Given the description of an element on the screen output the (x, y) to click on. 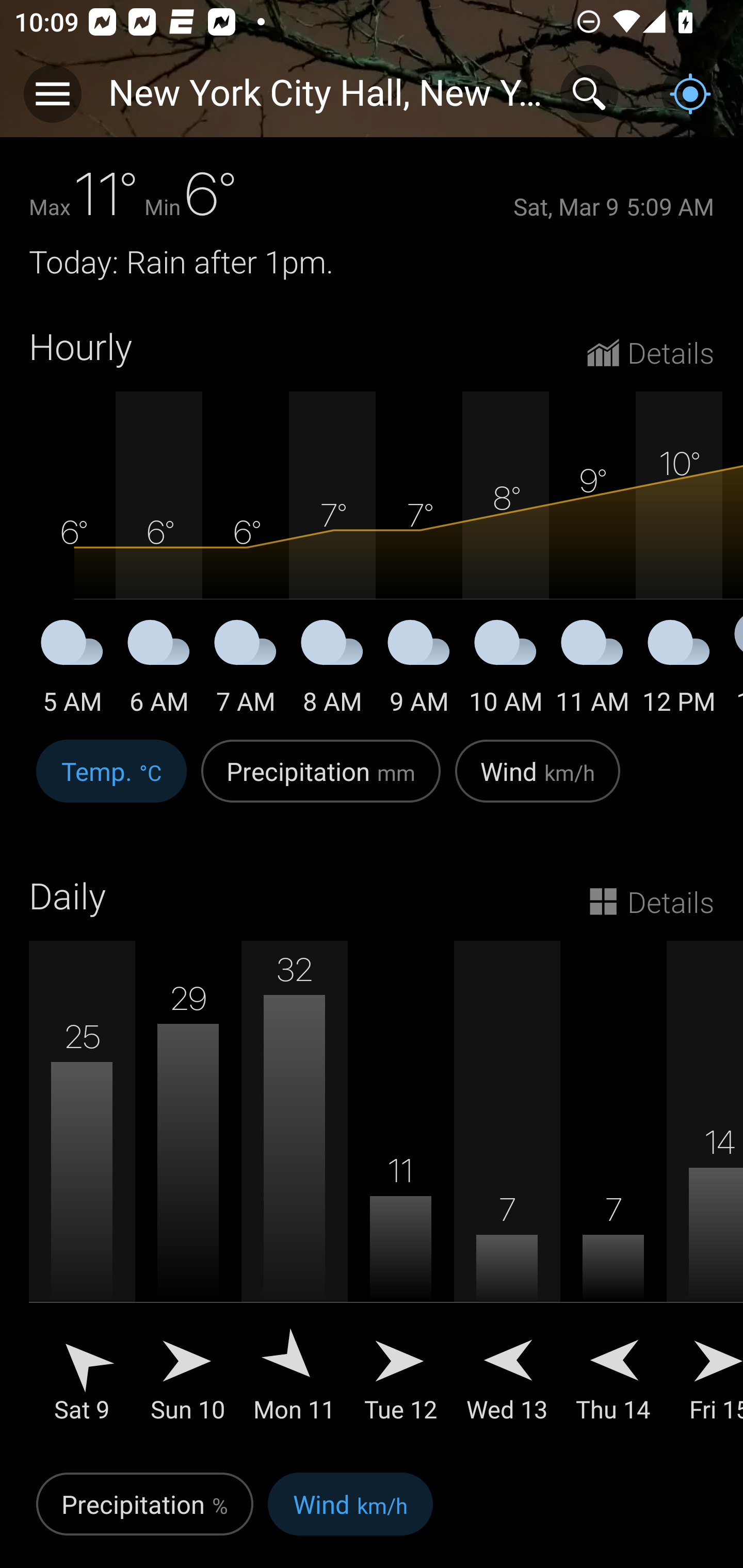
Severe Weather Alerts Gale Watch  (371, 103)
5 AM 6 AM 7 AM 8 AM 9 AM 10 AM 11 AM 12 PM 1 PM (371, 554)
5 AM (71, 670)
6 AM (158, 670)
7 AM (245, 670)
8 AM (332, 670)
9 AM (418, 670)
10 AM (505, 670)
11 AM (592, 670)
12 PM (679, 670)
Temp. °C (110, 781)
Precipitation mm (320, 781)
Wind km/h (537, 781)
25  Sat 9 (81, 1195)
29  Sun 10 (188, 1195)
32  Mon 11 (294, 1195)
11  Tue 12 (400, 1195)
7  Wed 13 (506, 1195)
7  Thu 14 (613, 1195)
14  Fri 15 (704, 1195)
Precipitation % (144, 1515)
Wind km/h (349, 1515)
